Given the description of an element on the screen output the (x, y) to click on. 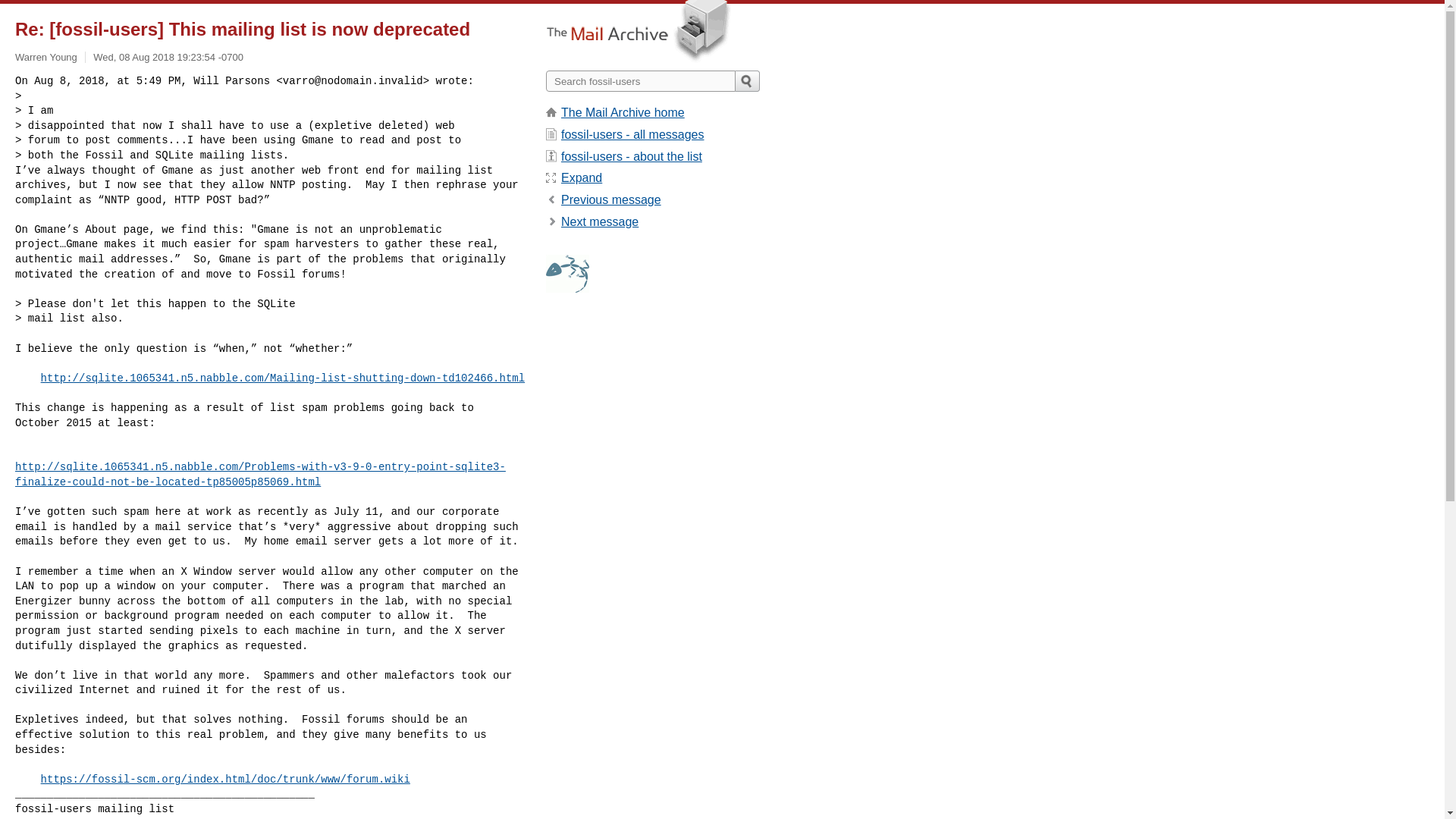
The Mail Archive home (622, 112)
p (610, 199)
e (581, 177)
Warren Young (45, 57)
n (599, 221)
Expand (581, 177)
fossil-users - all messages (632, 133)
Previous message (610, 199)
Next message (599, 221)
Wed, 08 Aug 2018 19:23:54 -0700 (168, 57)
fossil-users - about the list (630, 155)
